Given the description of an element on the screen output the (x, y) to click on. 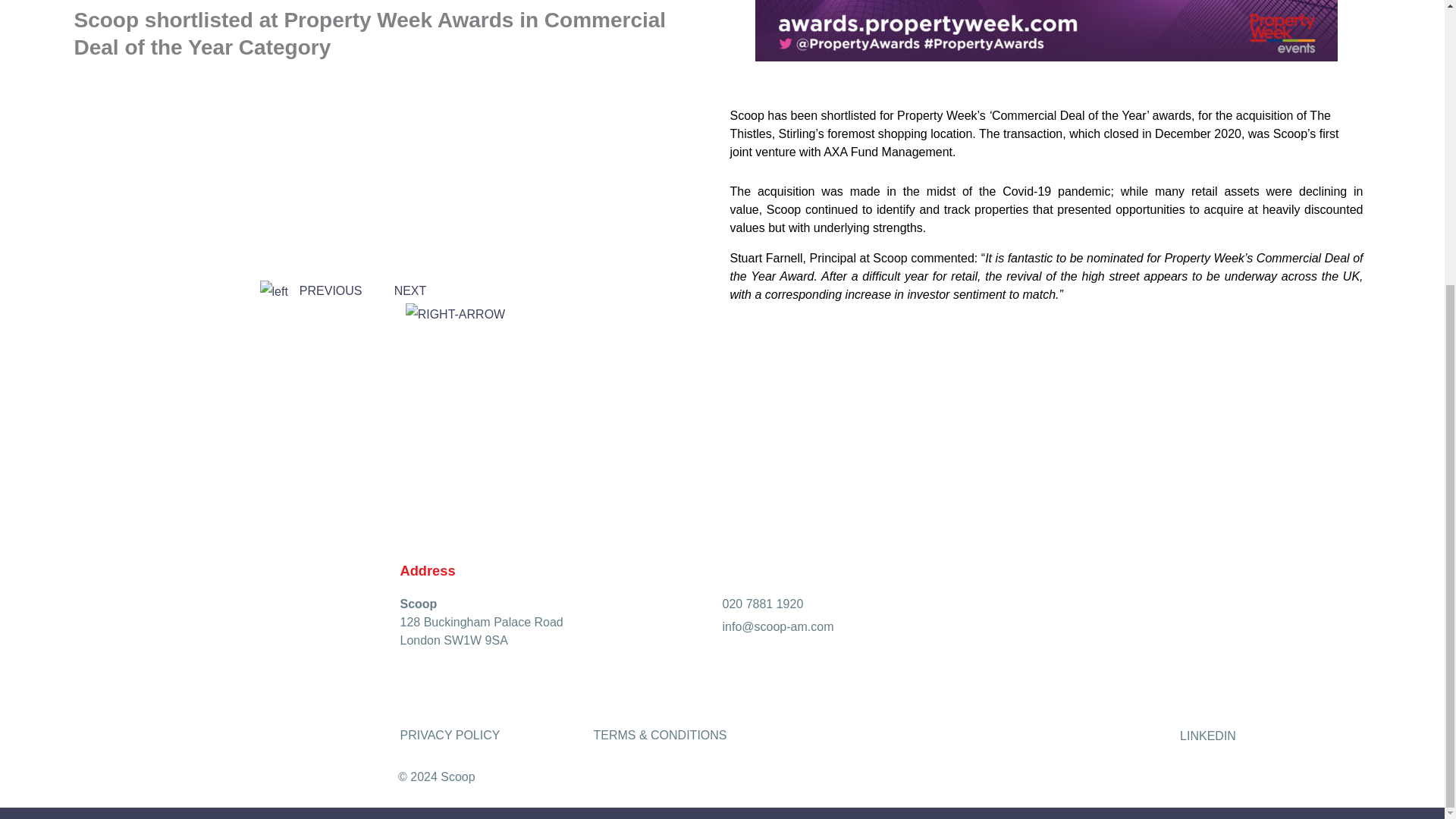
NEXT (449, 302)
PREVIOUS (310, 290)
LINKEDIN (1205, 736)
020 7881 1920 (762, 603)
PRIVACY POLICY (450, 735)
